Given the description of an element on the screen output the (x, y) to click on. 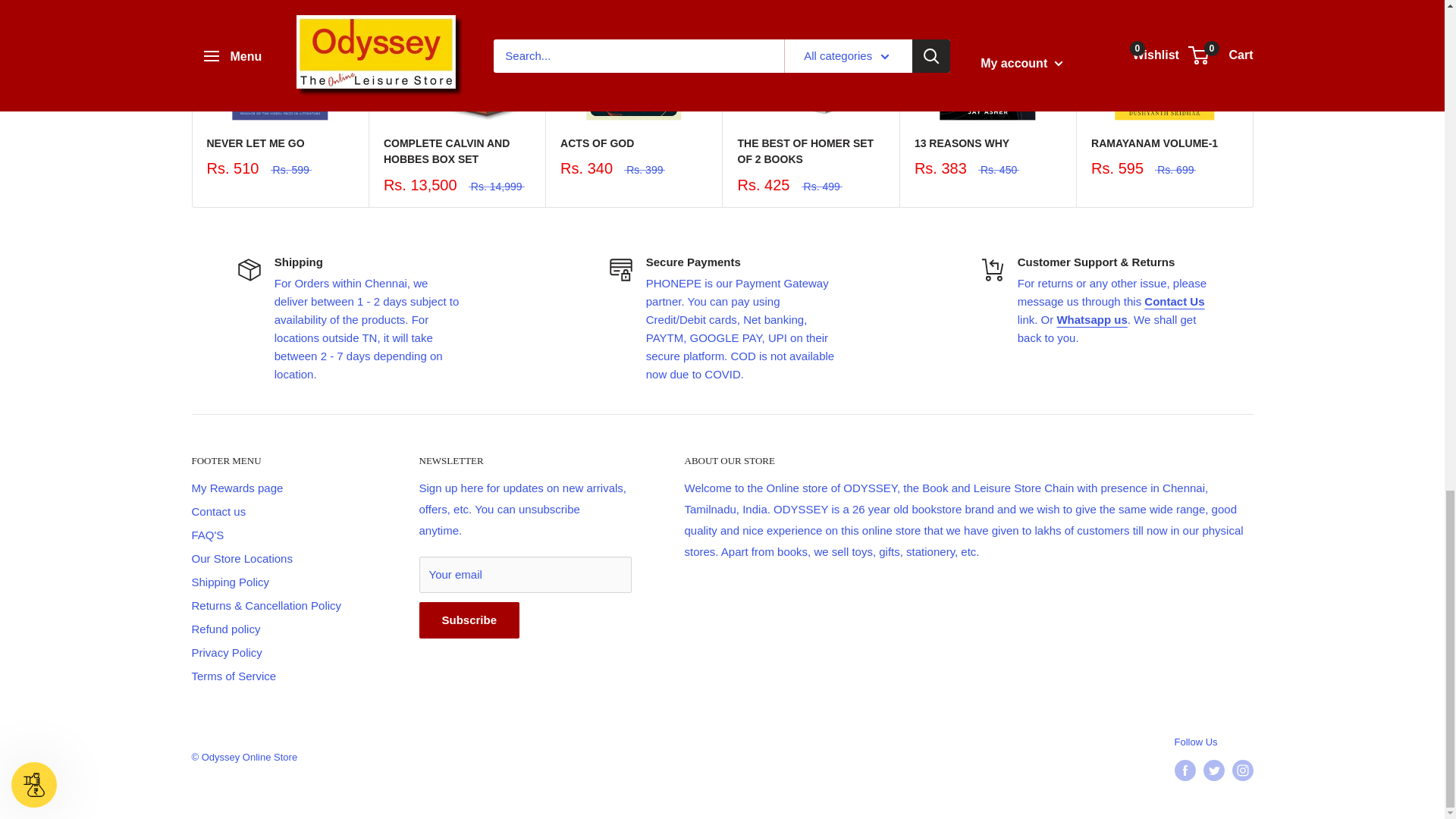
CONTACT US (1174, 300)
